Given the description of an element on the screen output the (x, y) to click on. 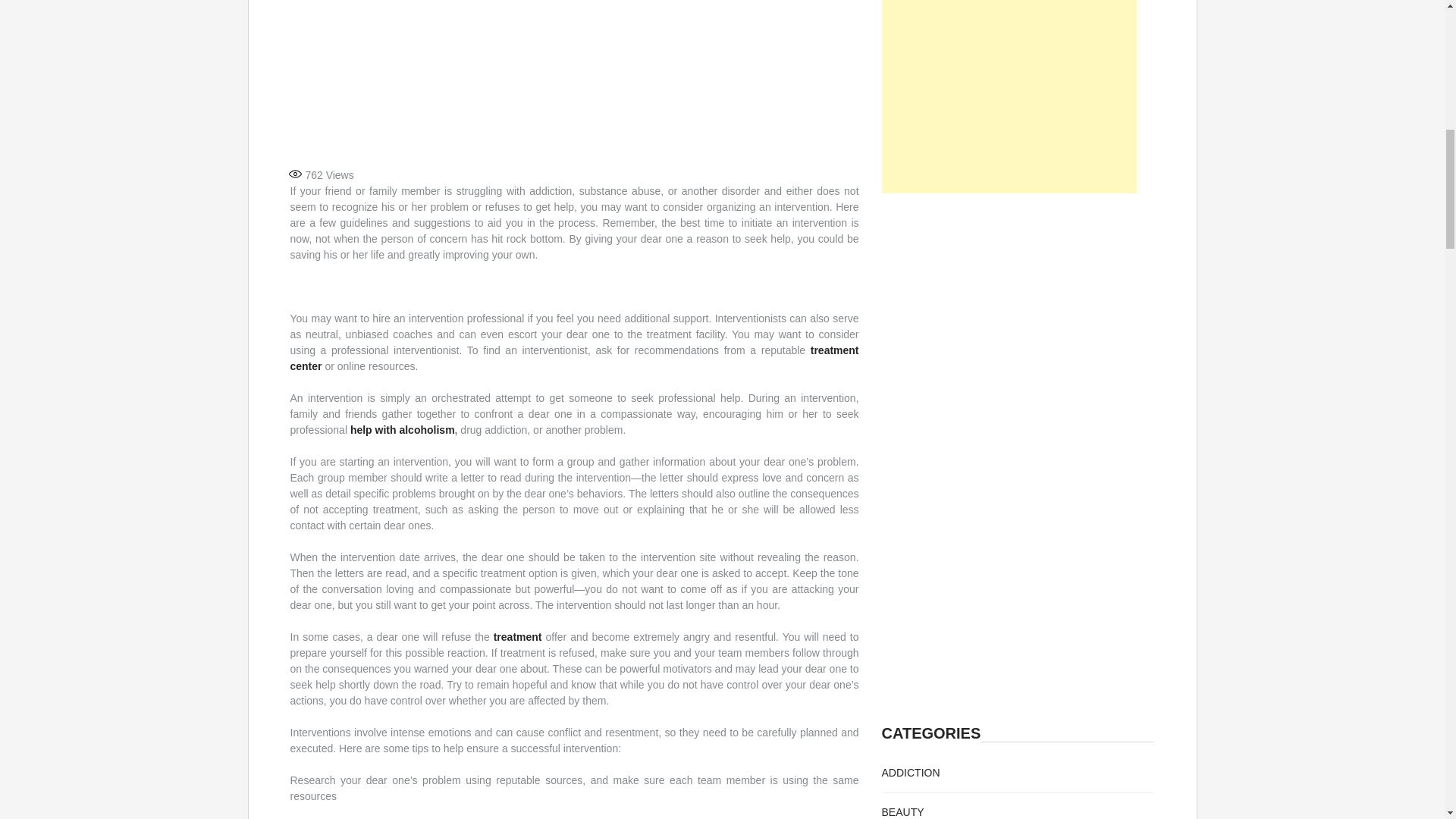
help with alcoholism (402, 429)
treatment (517, 636)
Advertisement (574, 75)
treatment center (574, 357)
